Given the description of an element on the screen output the (x, y) to click on. 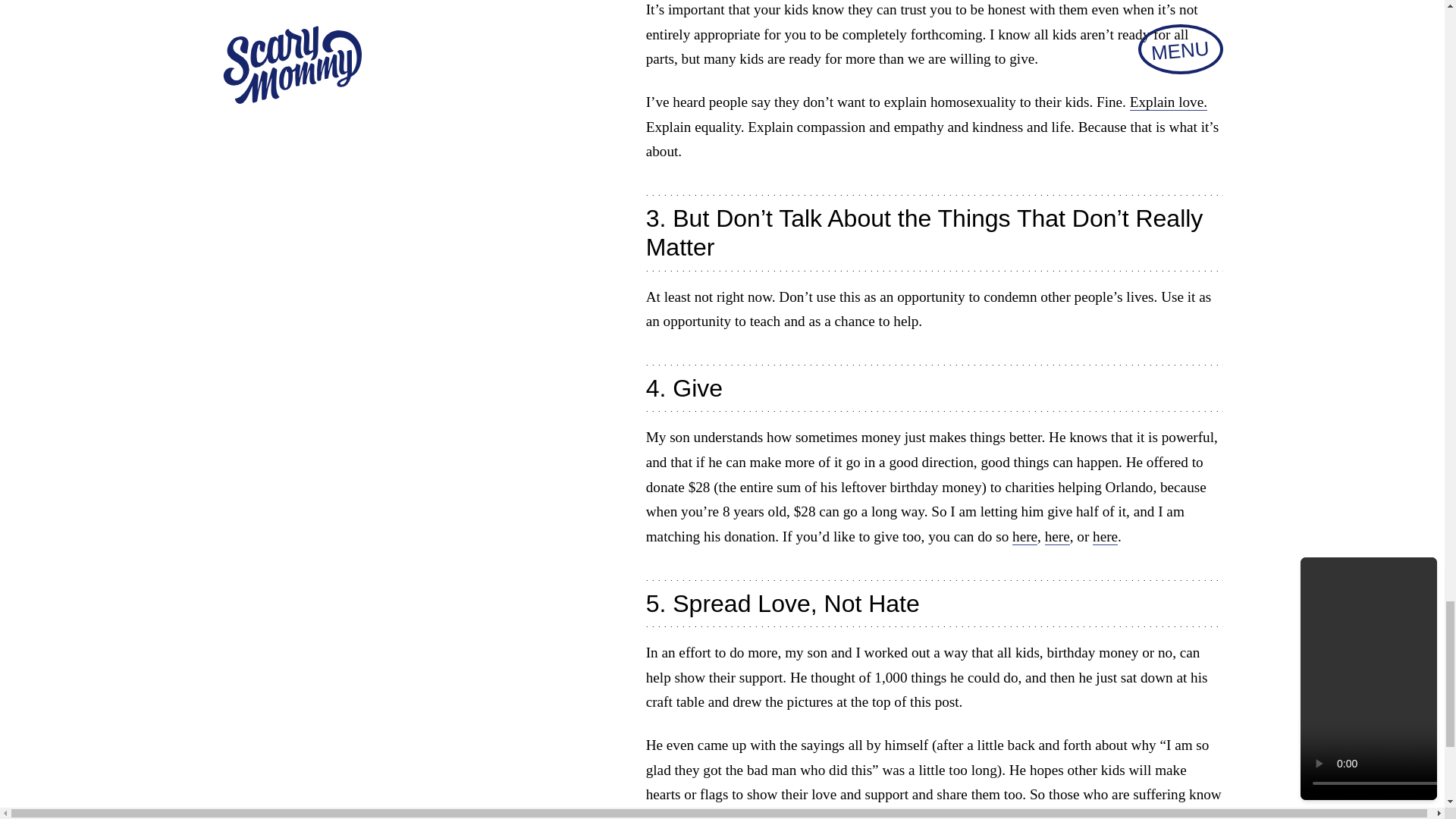
Explain love. (1168, 102)
they need our help (921, 815)
here (1057, 536)
here (1023, 536)
here (1105, 536)
